Given the description of an element on the screen output the (x, y) to click on. 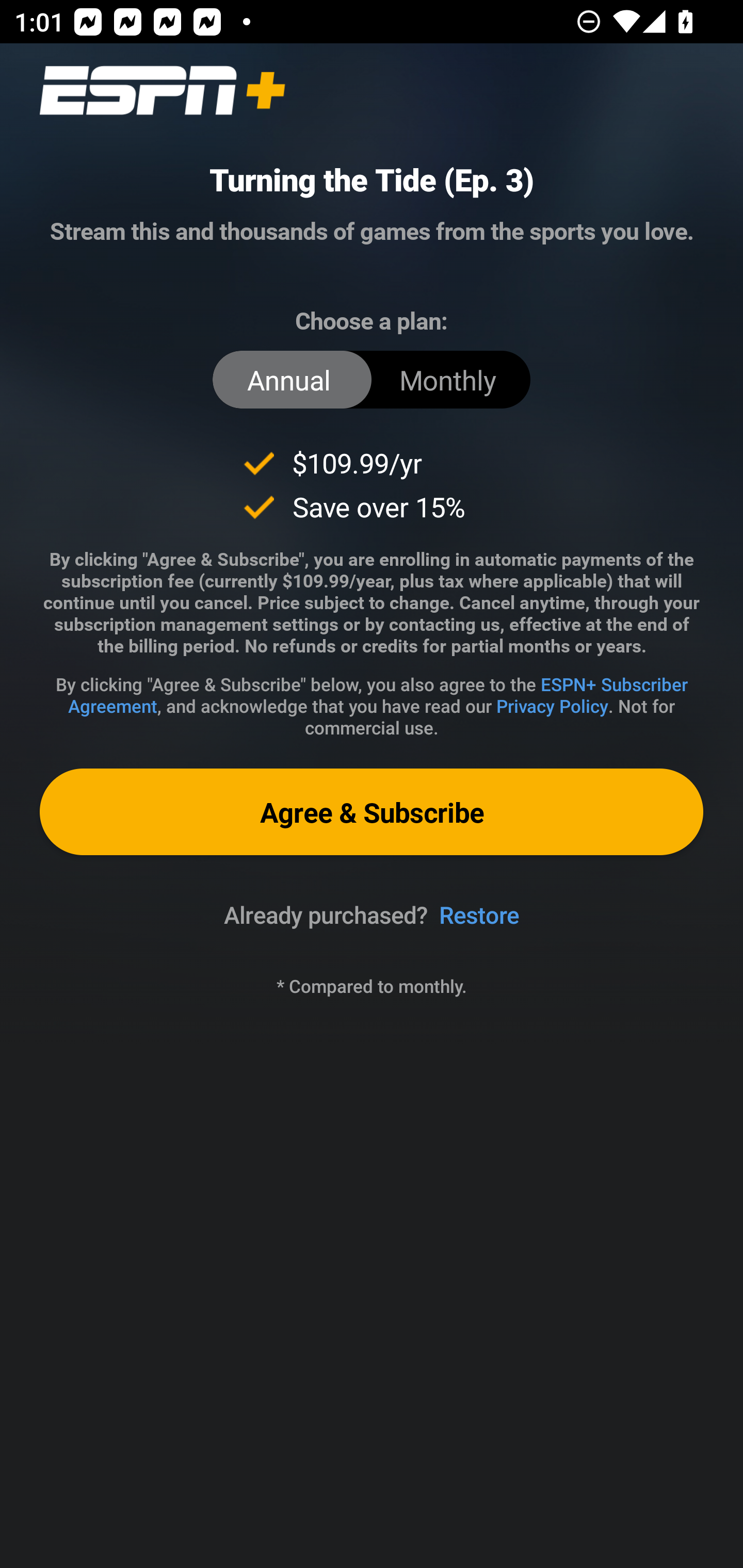
Agree & Subscribe (371, 811)
